Given the description of an element on the screen output the (x, y) to click on. 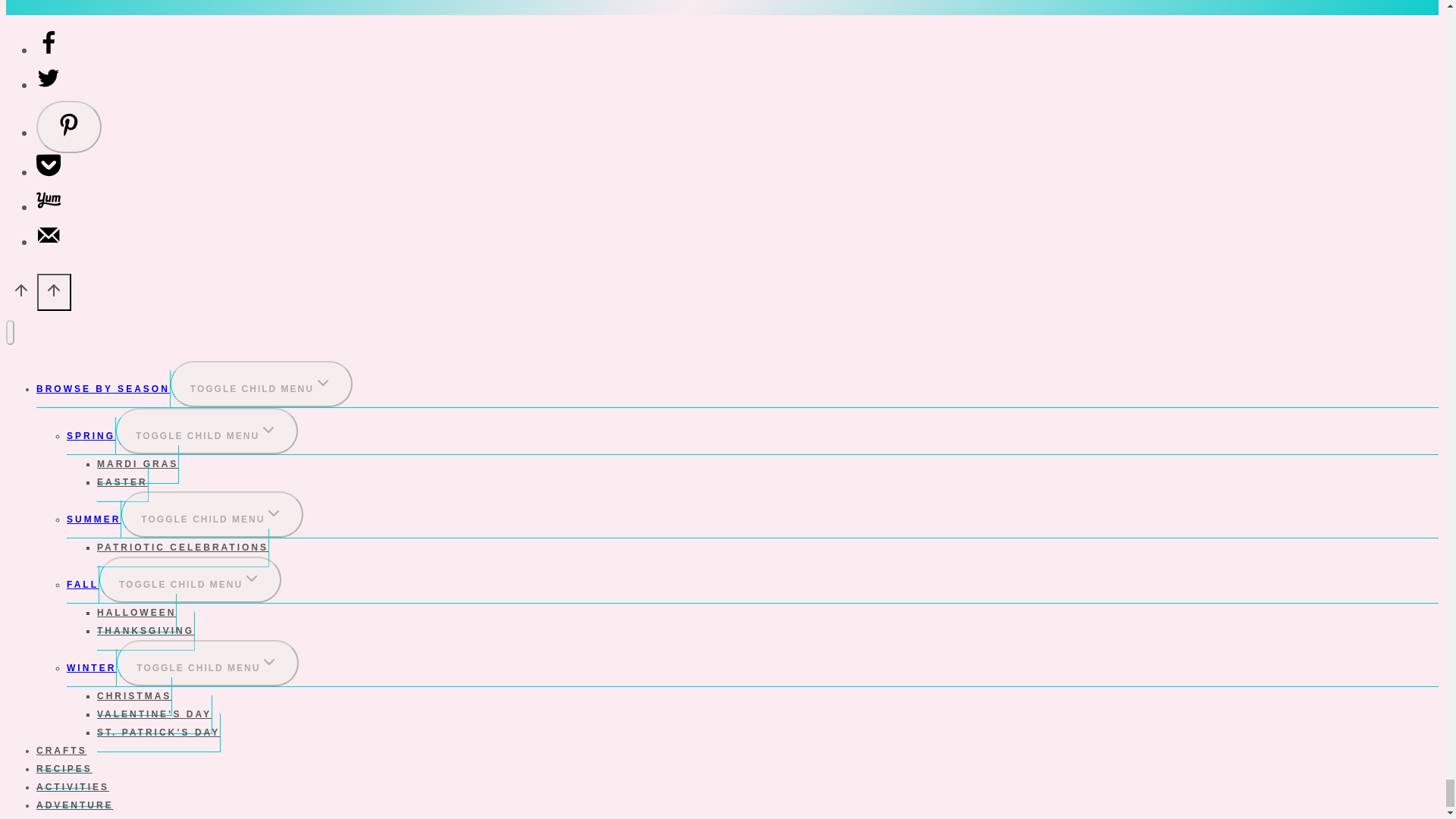
Share on Pocket (48, 171)
Send over email (48, 241)
Share on Facebook (48, 49)
SCROLL TO TOP (54, 292)
Scroll to top (21, 294)
Share on Twitter (48, 84)
Share on Yummly (48, 206)
Save to Pinterest (68, 126)
